Given the description of an element on the screen output the (x, y) to click on. 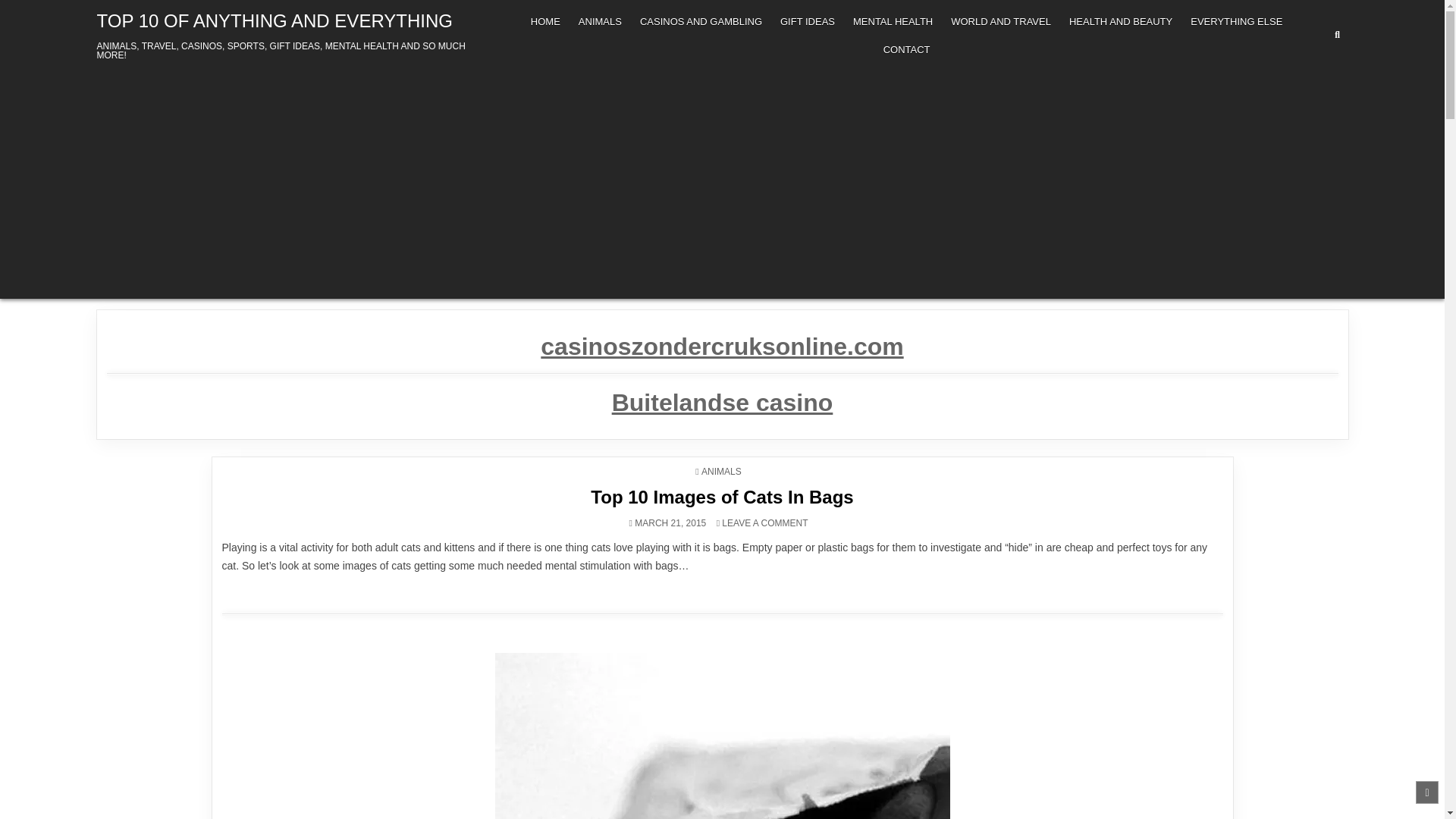
CASINOS AND GAMBLING (700, 21)
EVERYTHING ELSE (1235, 21)
SCROLL TO TOP (1426, 792)
CONTACT (907, 49)
MENTAL HEALTH (893, 21)
WORLD AND TRAVEL (1000, 21)
TOP 10 OF ANYTHING AND EVERYTHING (274, 20)
HEALTH AND BEAUTY (1119, 21)
ANIMALS (599, 21)
